Given the description of an element on the screen output the (x, y) to click on. 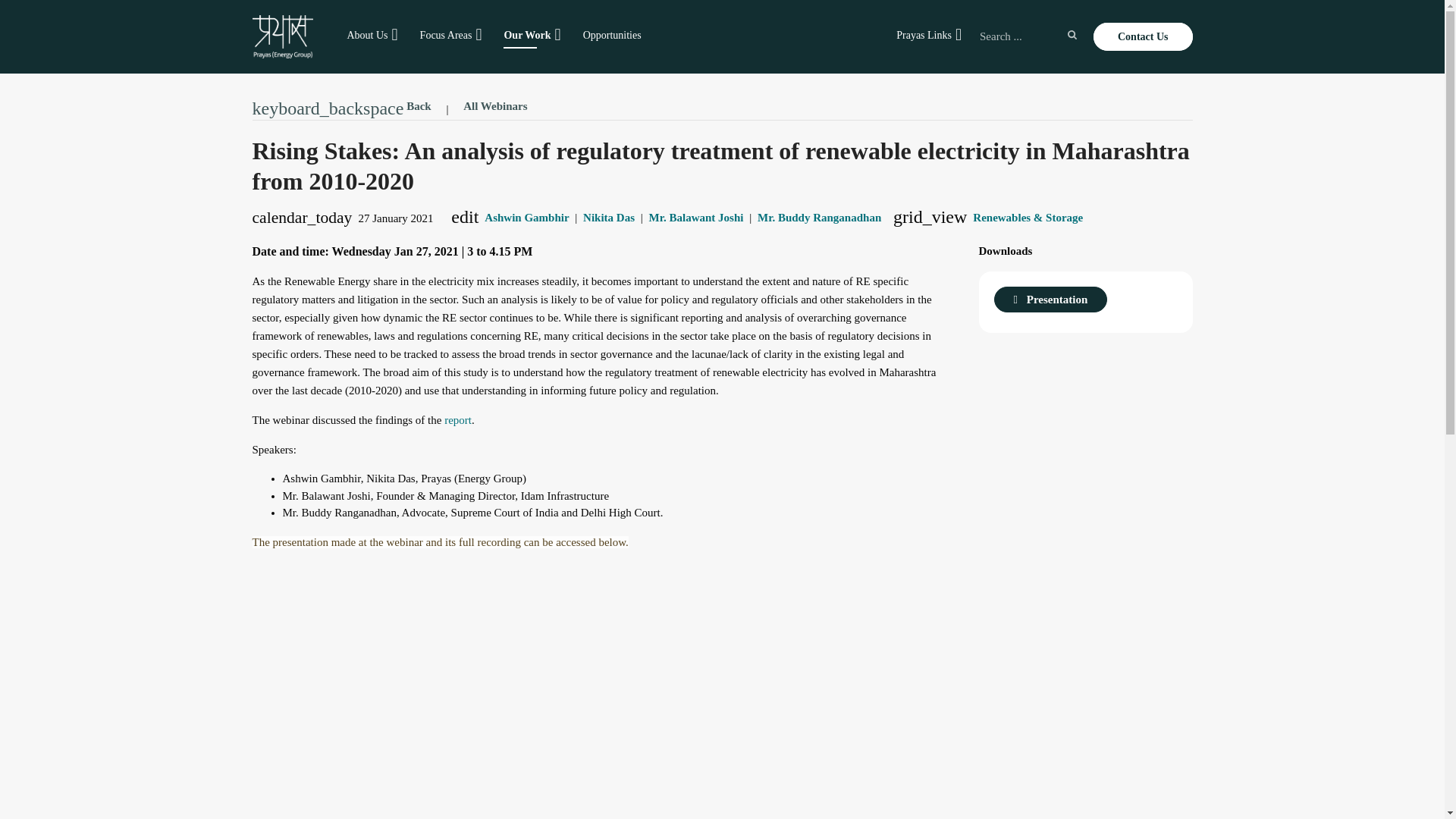
Our Work (526, 35)
About Us (366, 35)
Contact Us (1142, 36)
